Given the description of an element on the screen output the (x, y) to click on. 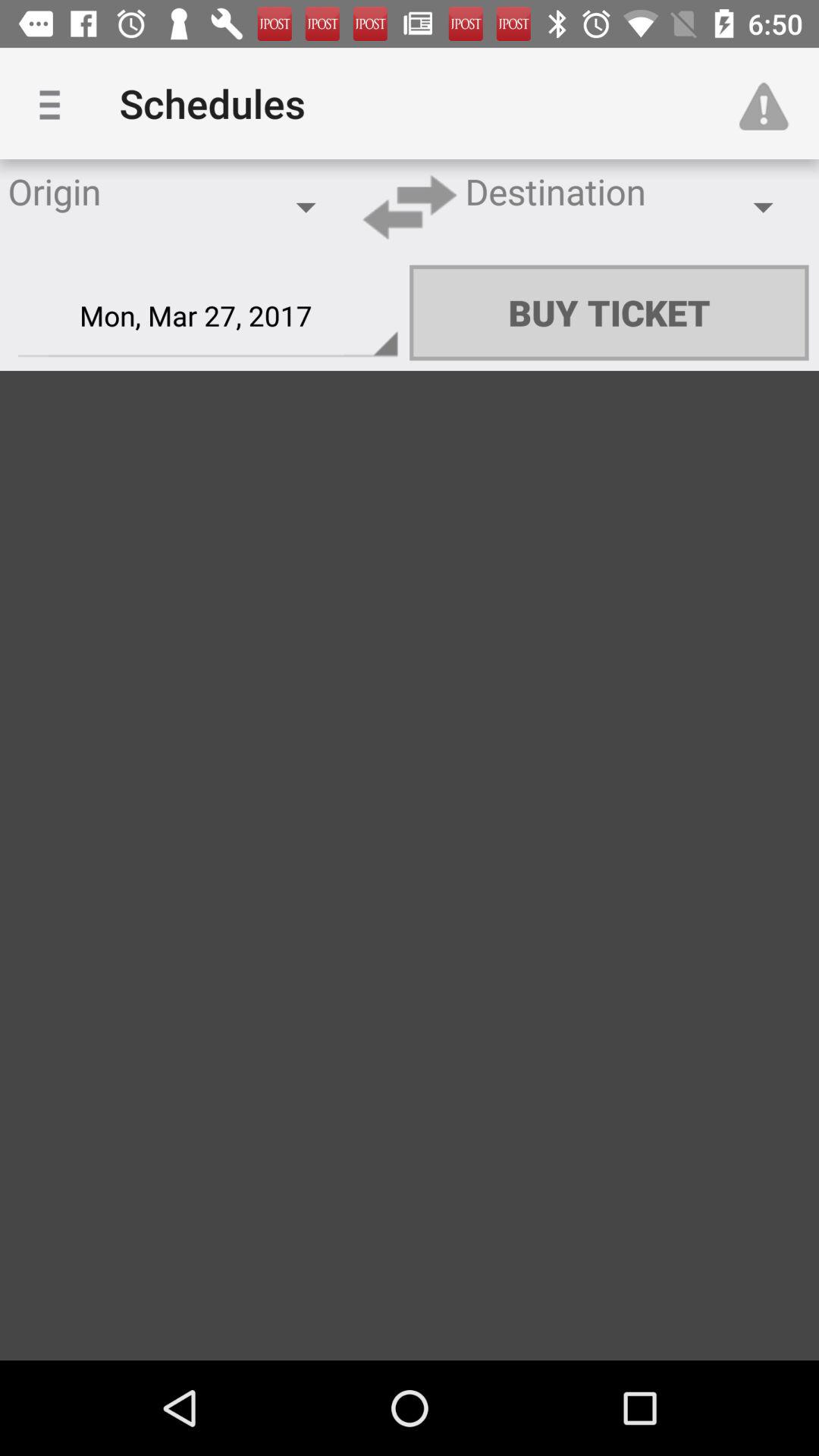
turn on icon next to the buy ticket item (207, 316)
